Given the description of an element on the screen output the (x, y) to click on. 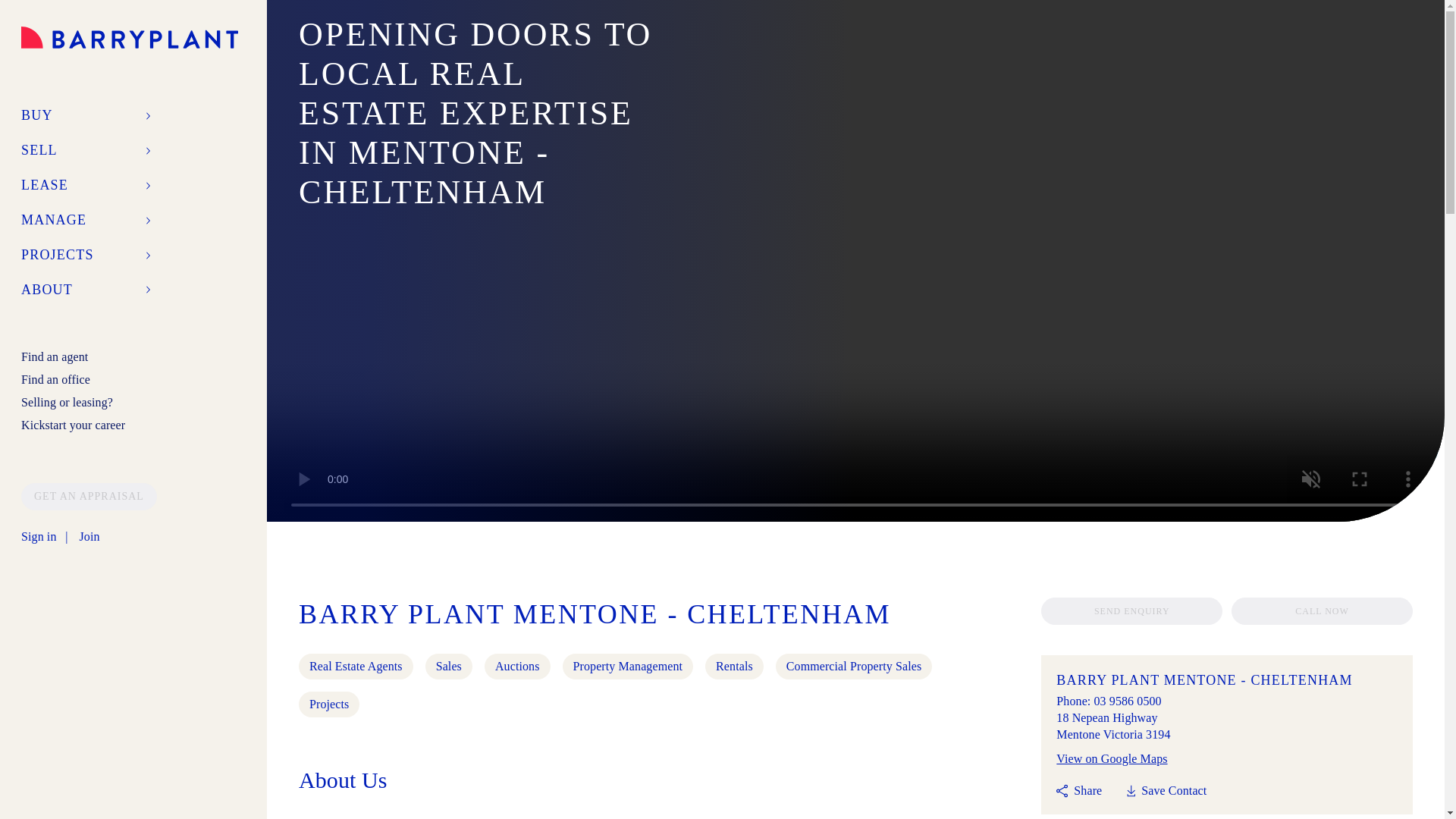
CALL NOW (1321, 610)
Find an agent (54, 356)
Find an office (55, 379)
Join (88, 536)
CALL NOW (1321, 609)
SEND ENQUIRY (1132, 610)
03 9586 0500 (1126, 700)
GET AN APPRAISAL (89, 496)
Kickstart your career (73, 424)
GET AN APPRAISAL (89, 495)
View on Google Maps (1112, 759)
Sign in (38, 536)
Selling or leasing? (67, 401)
